Given the description of an element on the screen output the (x, y) to click on. 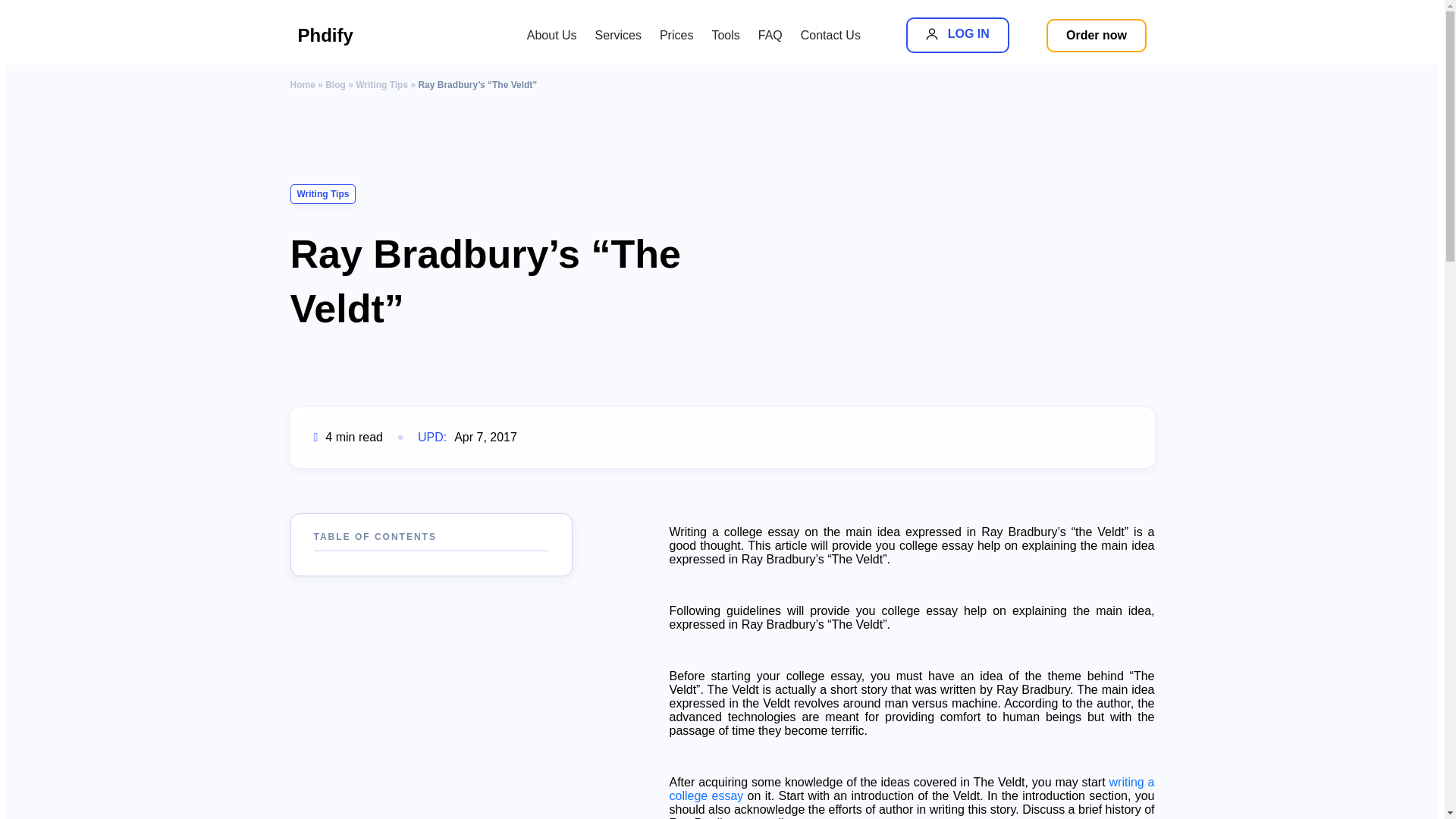
Contact Us (830, 35)
user (931, 33)
Services (618, 35)
Order now (1096, 34)
Prices (675, 35)
FAQ (770, 35)
Phdify (366, 34)
Tools (724, 35)
About Us (552, 35)
